Given the description of an element on the screen output the (x, y) to click on. 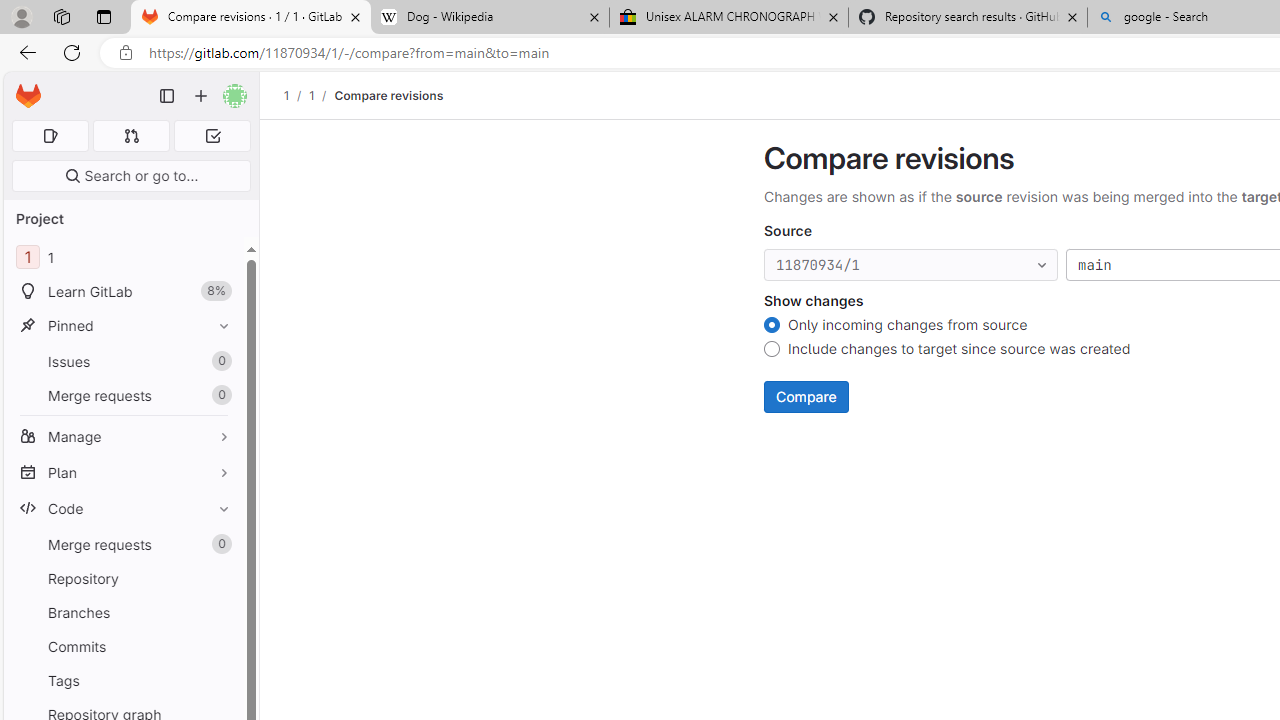
Dog - Wikipedia (490, 17)
Homepage (27, 96)
Learn GitLab 8% (123, 291)
Learn GitLab8% (123, 291)
Repository (123, 578)
Include changes to target since source was created (771, 351)
Manage (123, 435)
Compare revisions (389, 95)
Unpin Merge requests (219, 544)
